Given the description of an element on the screen output the (x, y) to click on. 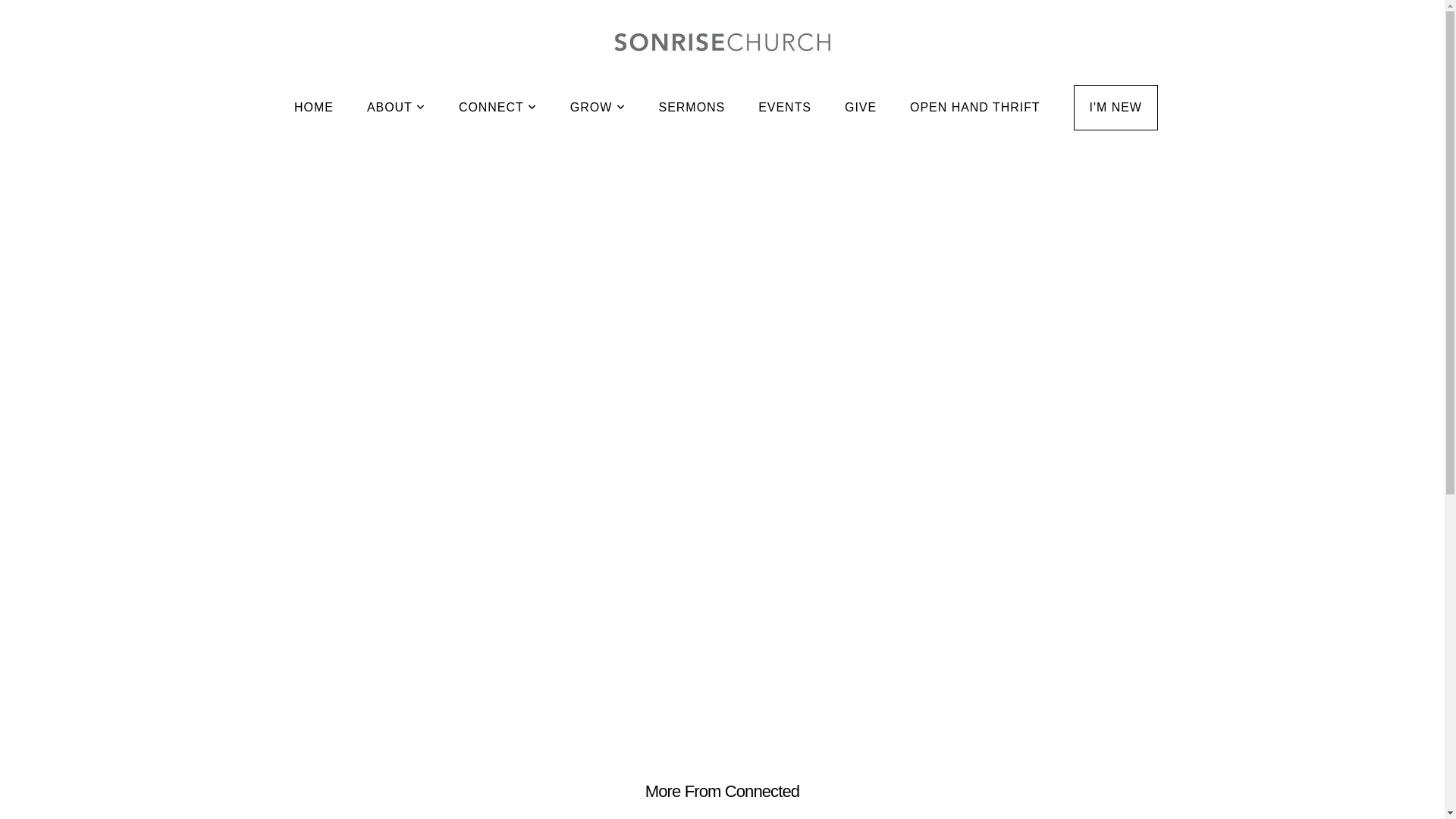
OPEN HAND THRIFT Element type: text (974, 107)
EVENTS Element type: text (784, 107)
CONNECT  Element type: text (497, 107)
GIVE Element type: text (860, 107)
GROW  Element type: text (597, 107)
ABOUT  Element type: text (395, 107)
I'M NEW Element type: text (1115, 107)
SERMONS Element type: text (691, 107)
HOME Element type: text (313, 107)
